Given the description of an element on the screen output the (x, y) to click on. 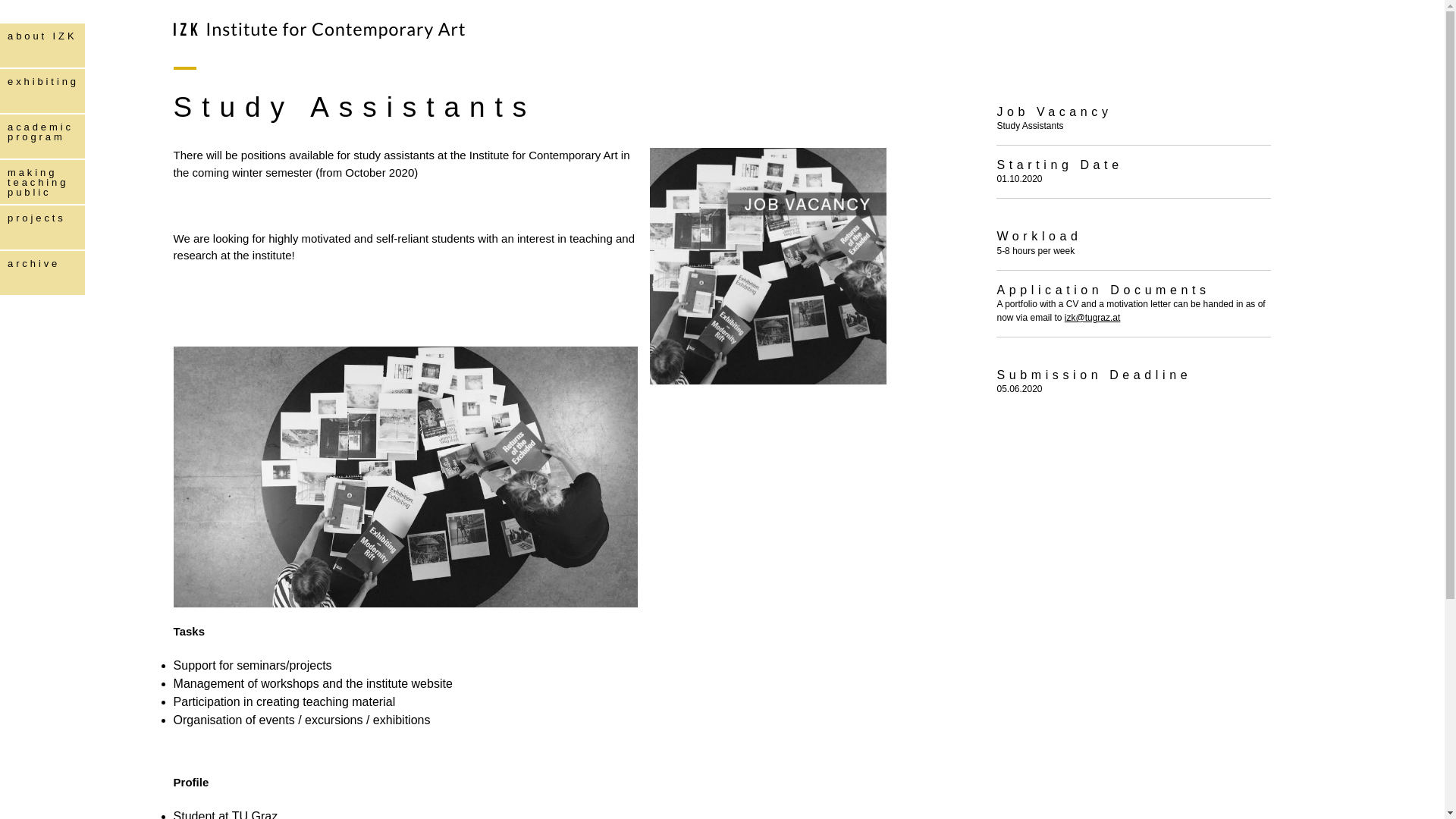
exhibiting (42, 90)
projects (42, 227)
archive (42, 272)
making teaching public (42, 181)
academic program (42, 135)
about IZK (42, 44)
